Given the description of an element on the screen output the (x, y) to click on. 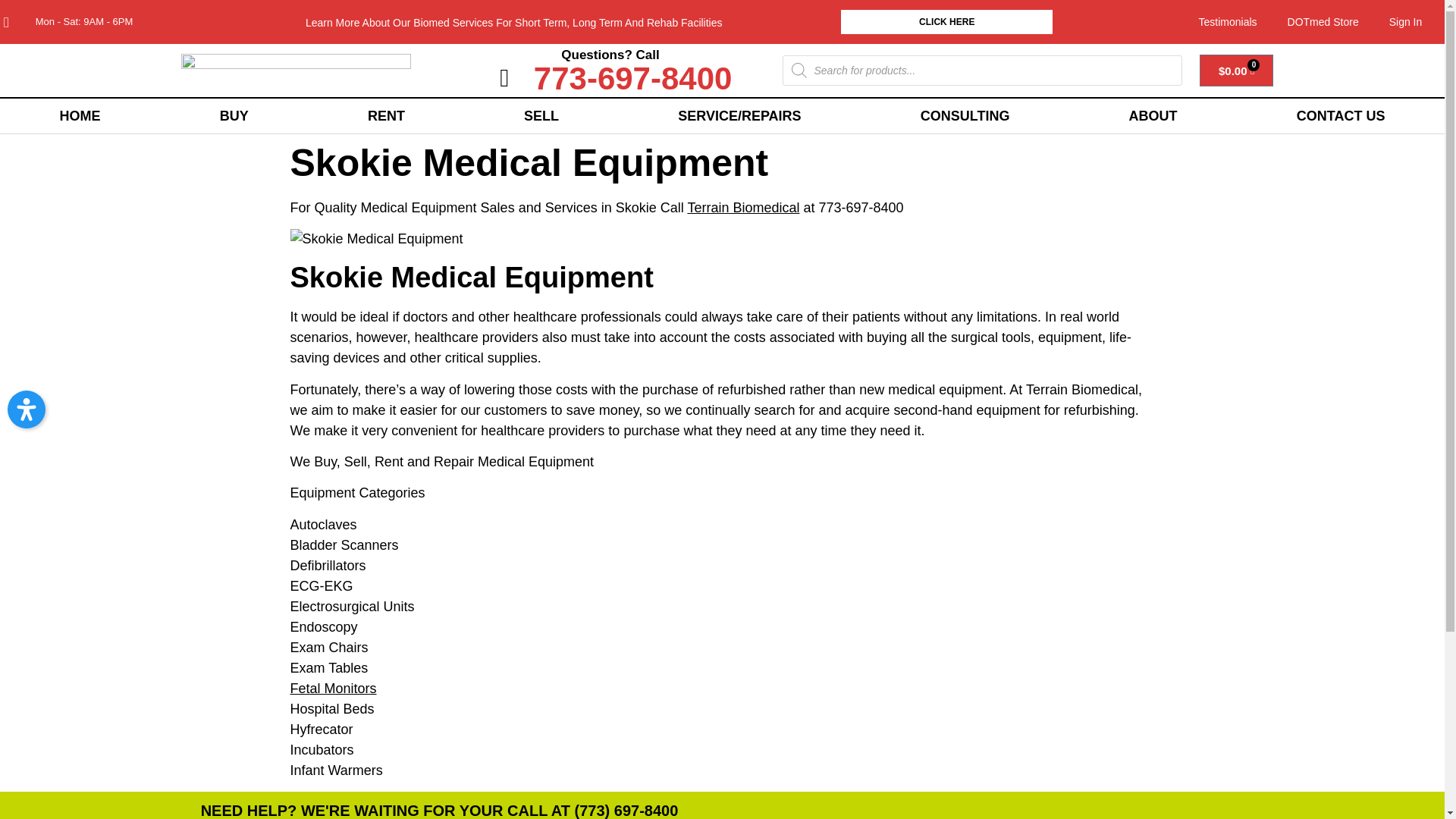
HOME (80, 115)
ABOUT (1152, 115)
DOTmed Store (1323, 21)
BUY (233, 115)
CLICK HERE (946, 21)
RENT (385, 115)
SELL (540, 115)
Testimonials (1227, 21)
Sign In (1406, 21)
CONSULTING (964, 115)
